Given the description of an element on the screen output the (x, y) to click on. 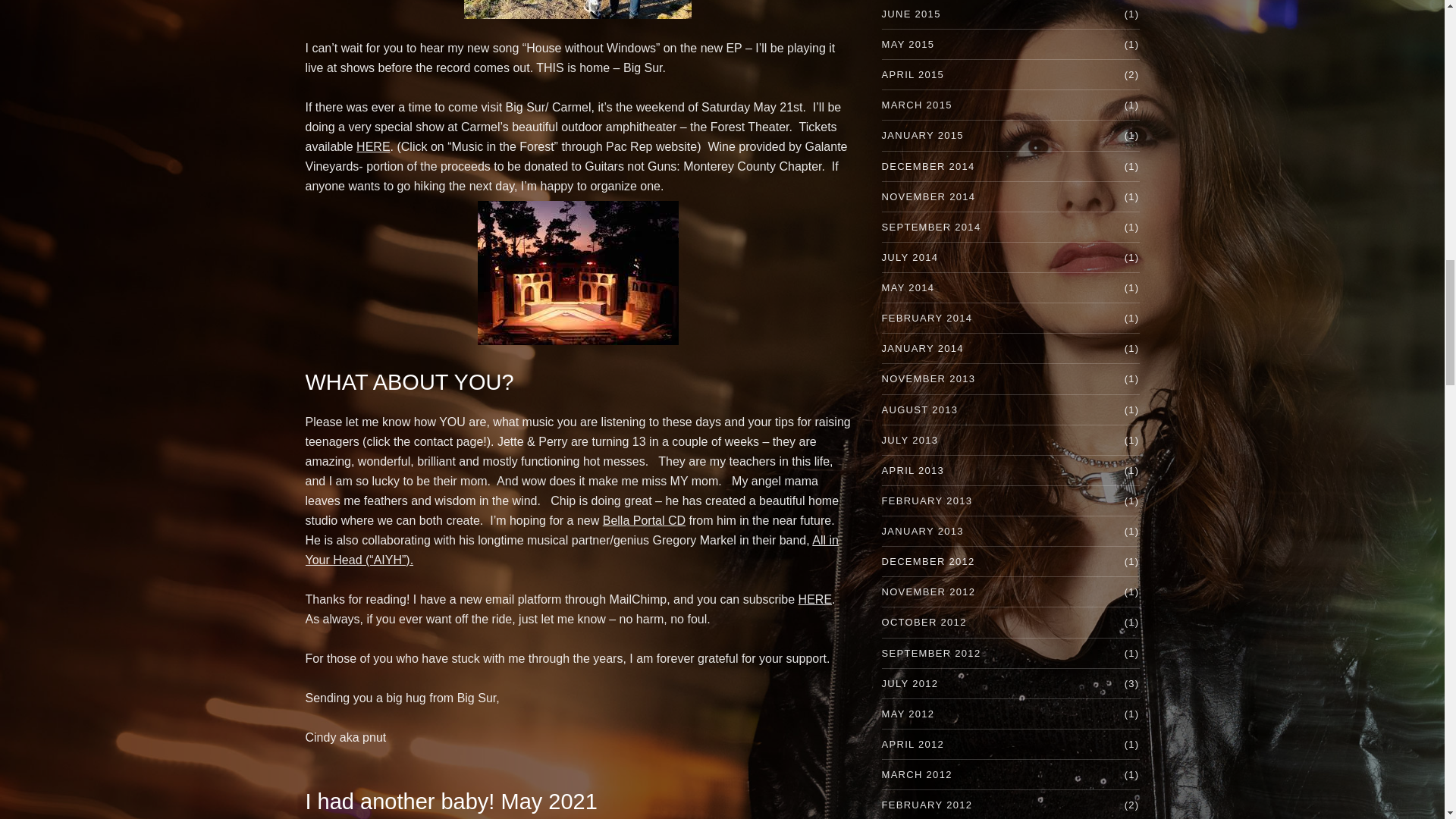
HERE (373, 146)
